Given the description of an element on the screen output the (x, y) to click on. 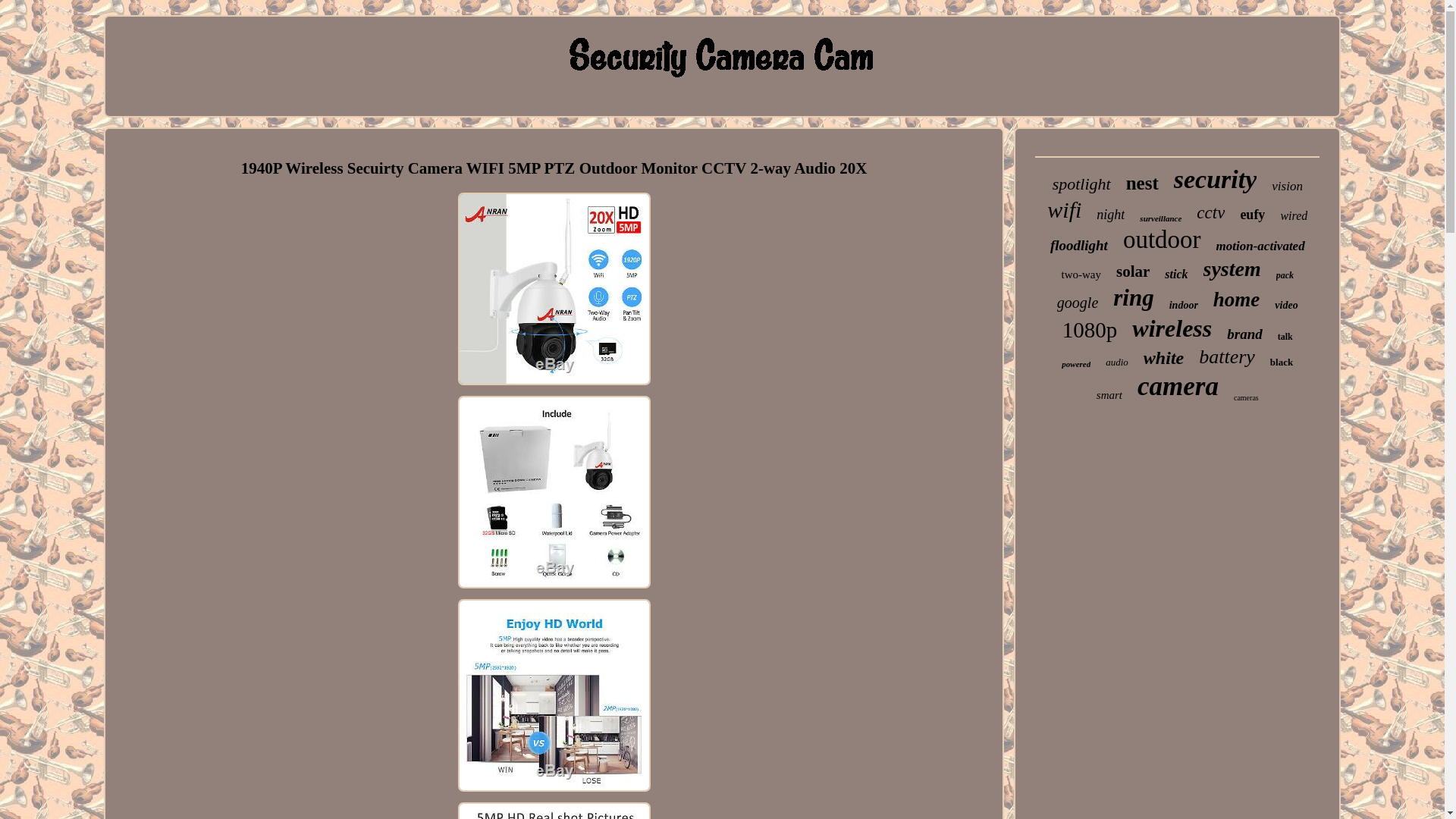
cctv (1210, 212)
surveillance (1160, 217)
wireless (1171, 328)
nest (1141, 183)
system (1232, 269)
motion-activated (1259, 246)
floodlight (1078, 245)
1080p (1090, 330)
brand (1244, 334)
